Given the description of an element on the screen output the (x, y) to click on. 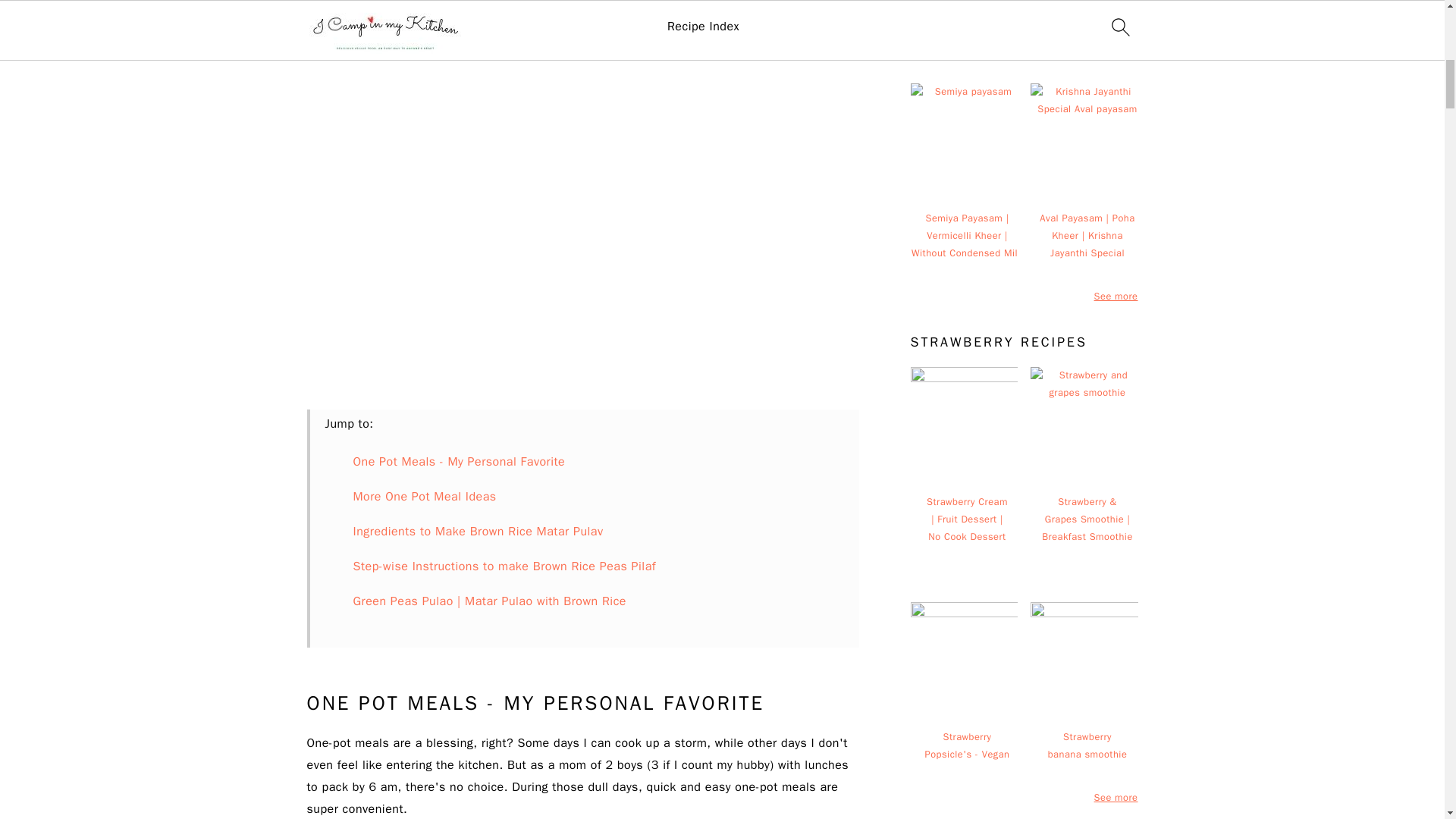
One Pot Meals - My Personal Favorite (459, 461)
Step-wise Instructions to make Brown Rice Peas Pilaf (504, 566)
Ingredients to Make Brown Rice Matar Pulav (478, 531)
More One Pot Meal Ideas (424, 496)
